Given the description of an element on the screen output the (x, y) to click on. 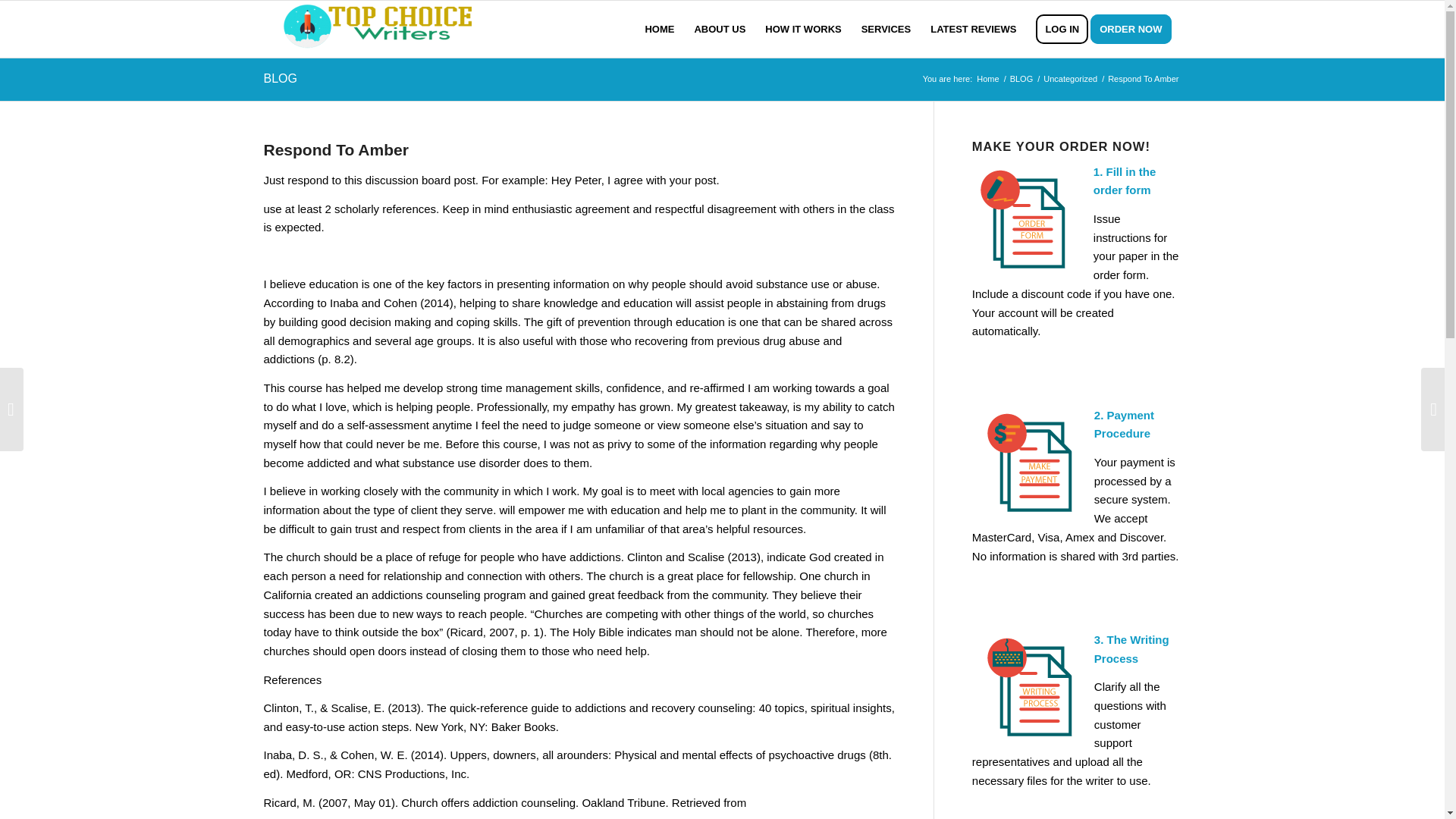
LOG IN (1061, 28)
ABOUT US (719, 28)
LATEST REVIEWS (973, 28)
HOW IT WORKS (802, 28)
Respond To Amber (336, 149)
BLOG (1021, 79)
Uncategorized (1070, 79)
BLOG (1021, 79)
HOME (659, 28)
Permanent Link: BLOG (280, 78)
topchoicewriters.com (987, 79)
ORDER NOW (1135, 28)
BLOG (280, 78)
SERVICES (886, 28)
Home (987, 79)
